Given the description of an element on the screen output the (x, y) to click on. 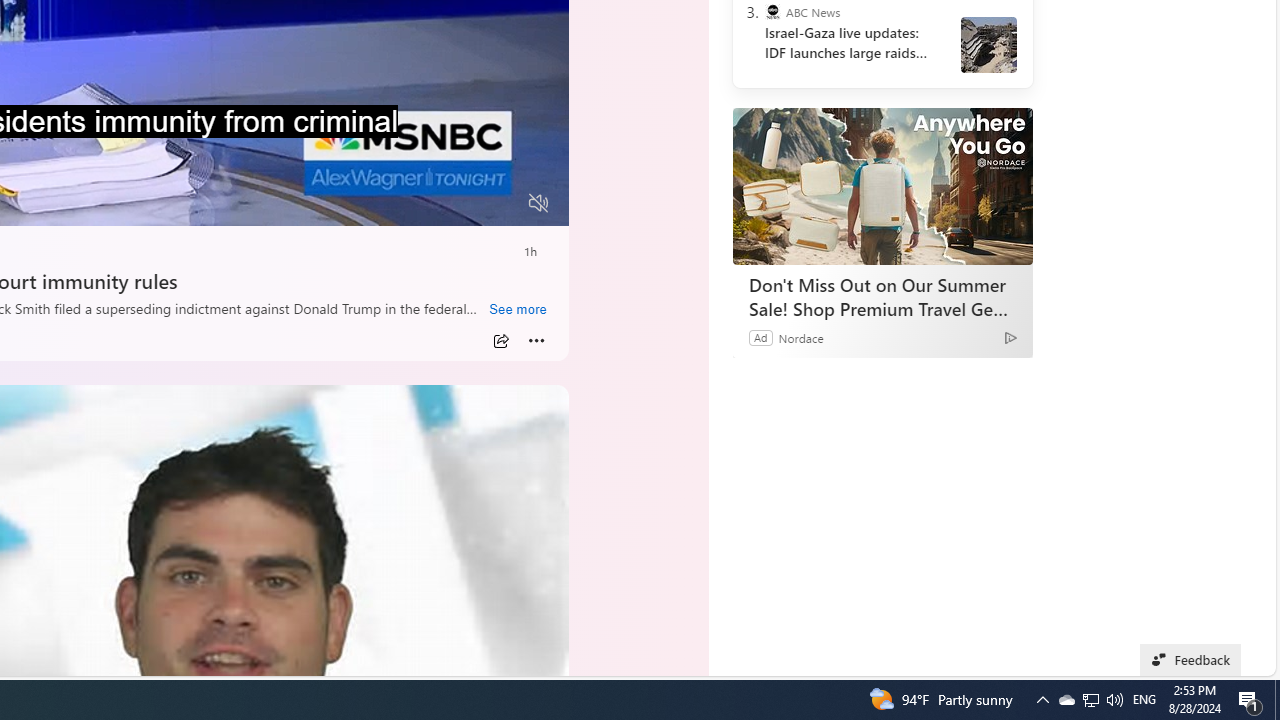
Share (501, 340)
Ad Choice (1010, 336)
Nordace (801, 337)
